Given the description of an element on the screen output the (x, y) to click on. 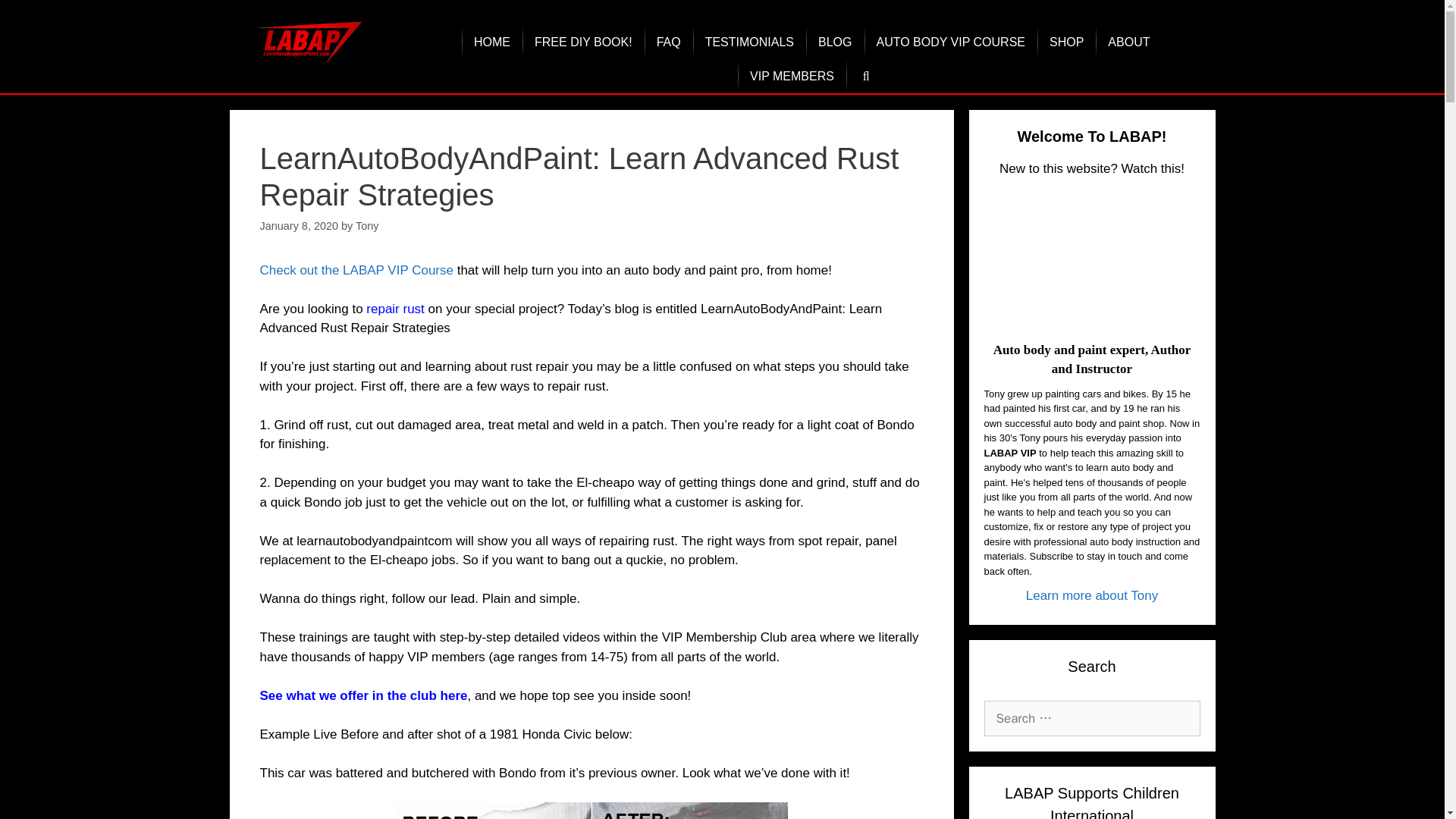
FREE DIY BOOK! (583, 41)
TESTIMONIALS (749, 41)
See what we offer in the club here (363, 695)
HOME (491, 41)
SHOP (1066, 41)
BLOG (834, 41)
FAQ (669, 41)
AUTO BODY VIP COURSE (951, 41)
Check out the LABAP VIP Course (355, 269)
View all posts by Tony (366, 225)
